Given the description of an element on the screen output the (x, y) to click on. 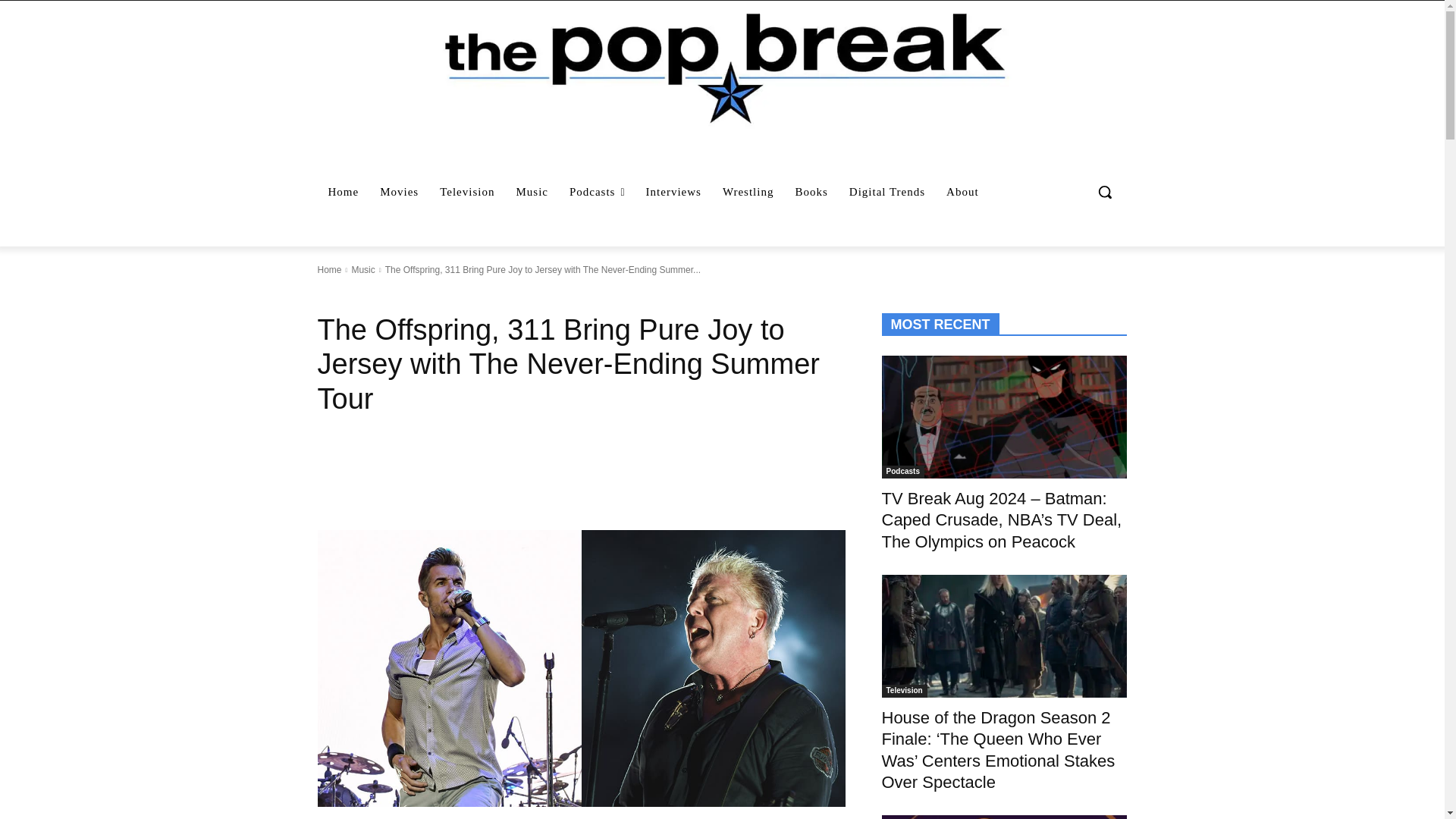
Wrestling (747, 191)
View all posts in Music (362, 269)
Music (532, 191)
Movies (399, 191)
Podcasts (596, 191)
Television (467, 191)
Books (811, 191)
Music (362, 269)
Digital Trends (887, 191)
About (963, 191)
